Given the description of an element on the screen output the (x, y) to click on. 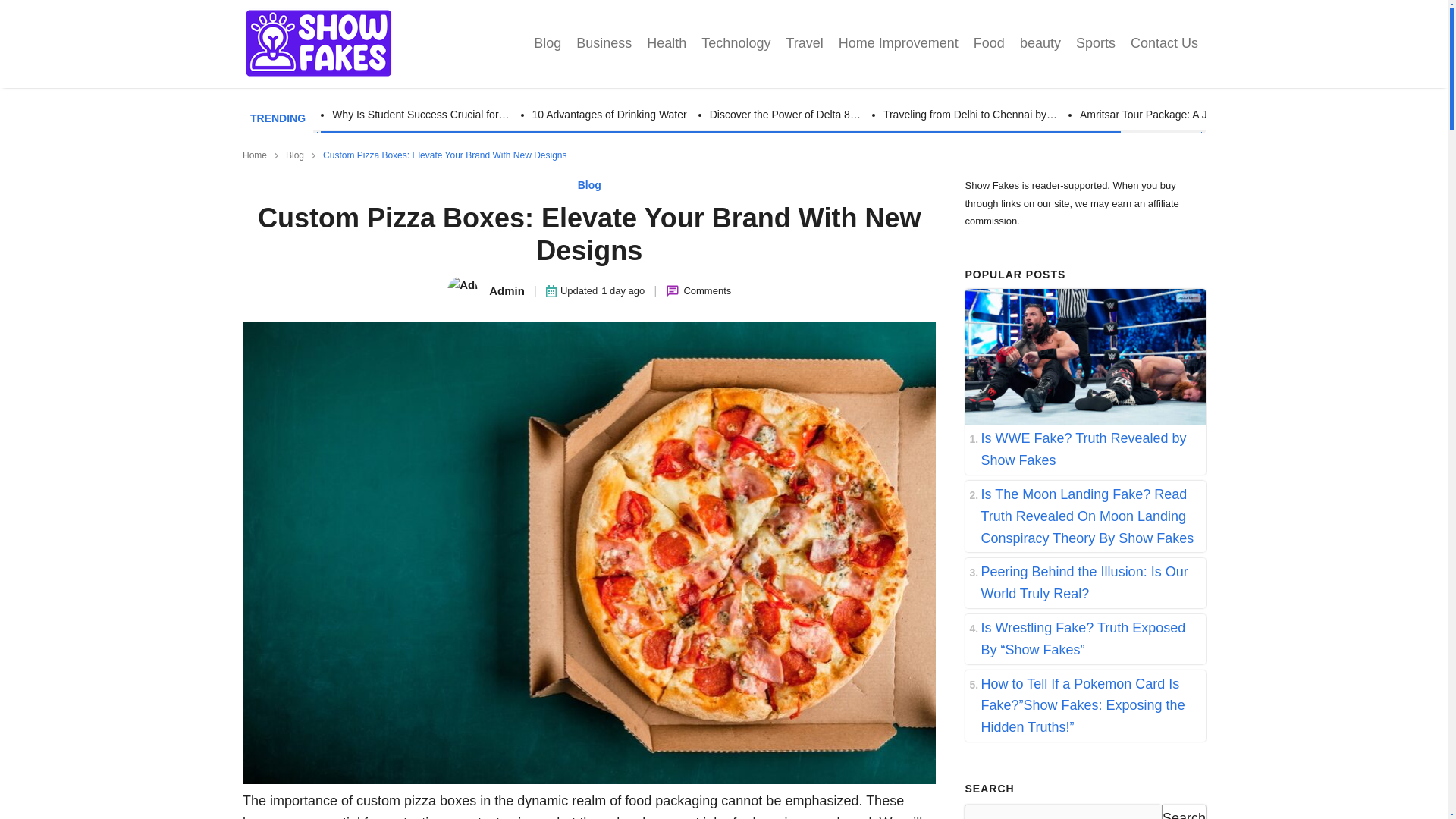
Technology (735, 44)
Business (604, 44)
Comments (706, 291)
Home (254, 155)
Contact Us (1163, 44)
Sports (1095, 44)
Blog (547, 44)
Blog (589, 184)
Food (988, 44)
Admin (485, 291)
Travel (803, 44)
Home Improvement (898, 44)
Health (666, 44)
beauty (1039, 44)
Blog (294, 155)
